Given the description of an element on the screen output the (x, y) to click on. 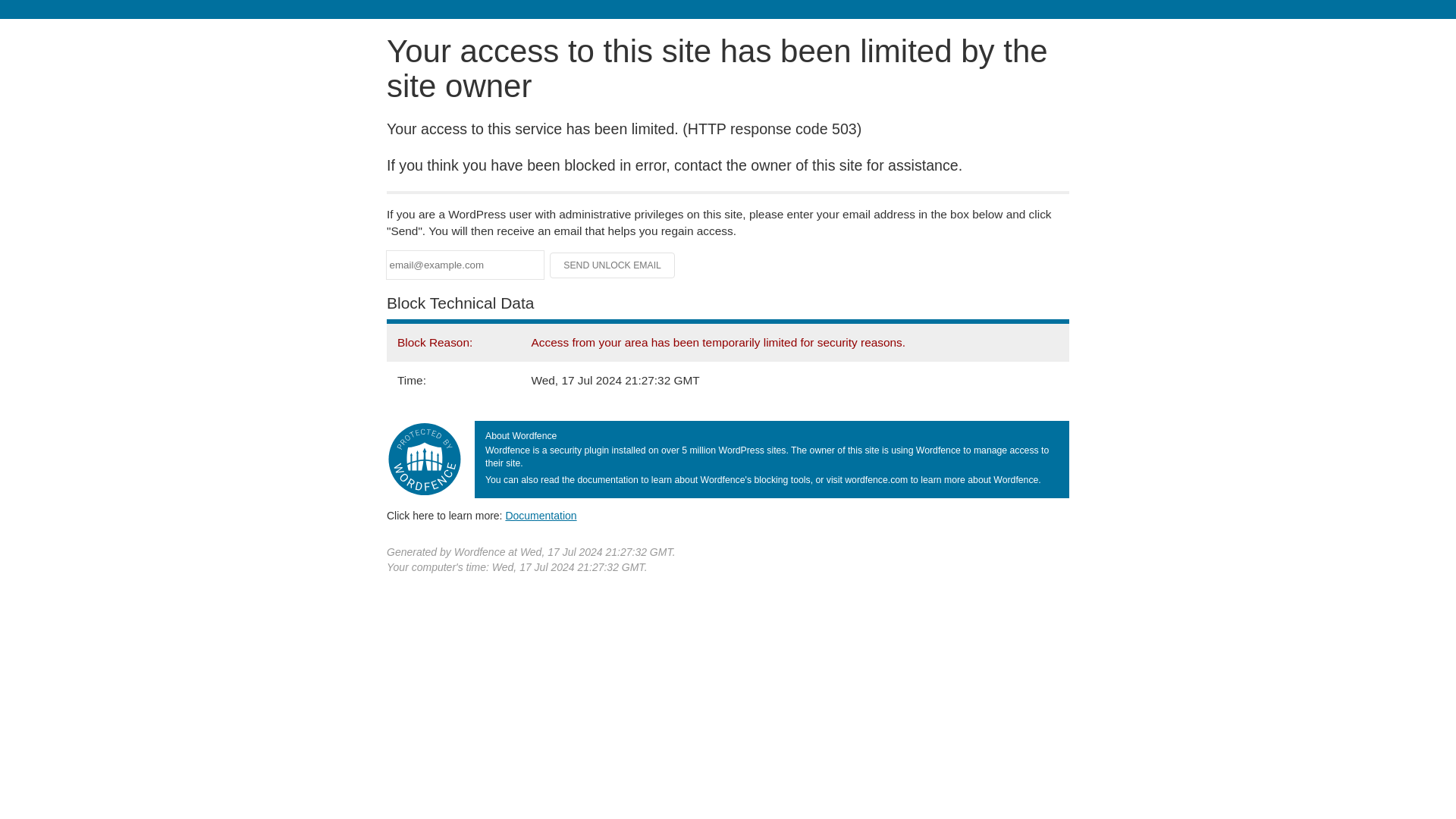
Documentation (540, 515)
Send Unlock Email (612, 265)
Send Unlock Email (612, 265)
